Given the description of an element on the screen output the (x, y) to click on. 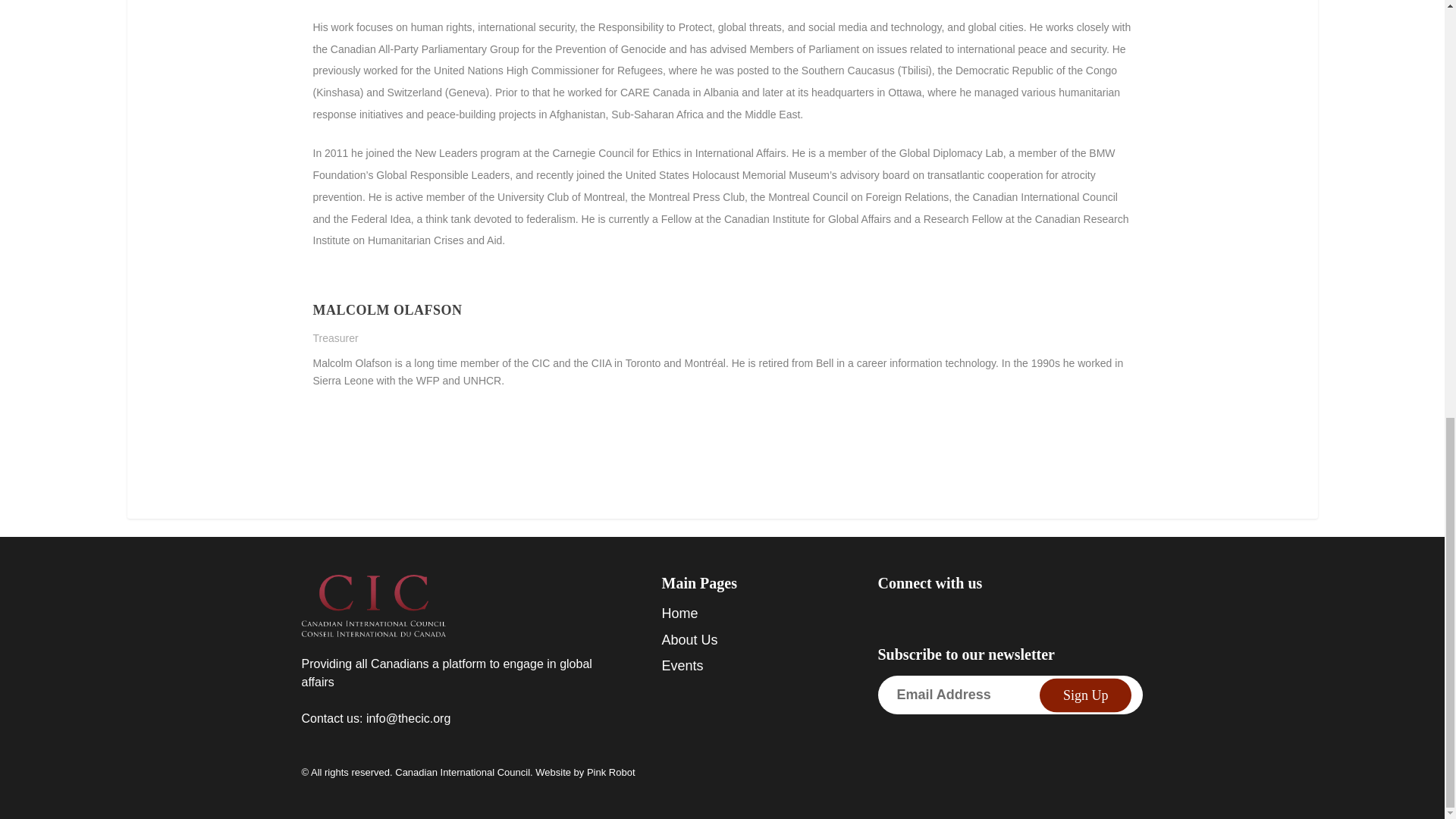
Sign Up (1085, 694)
